Given the description of an element on the screen output the (x, y) to click on. 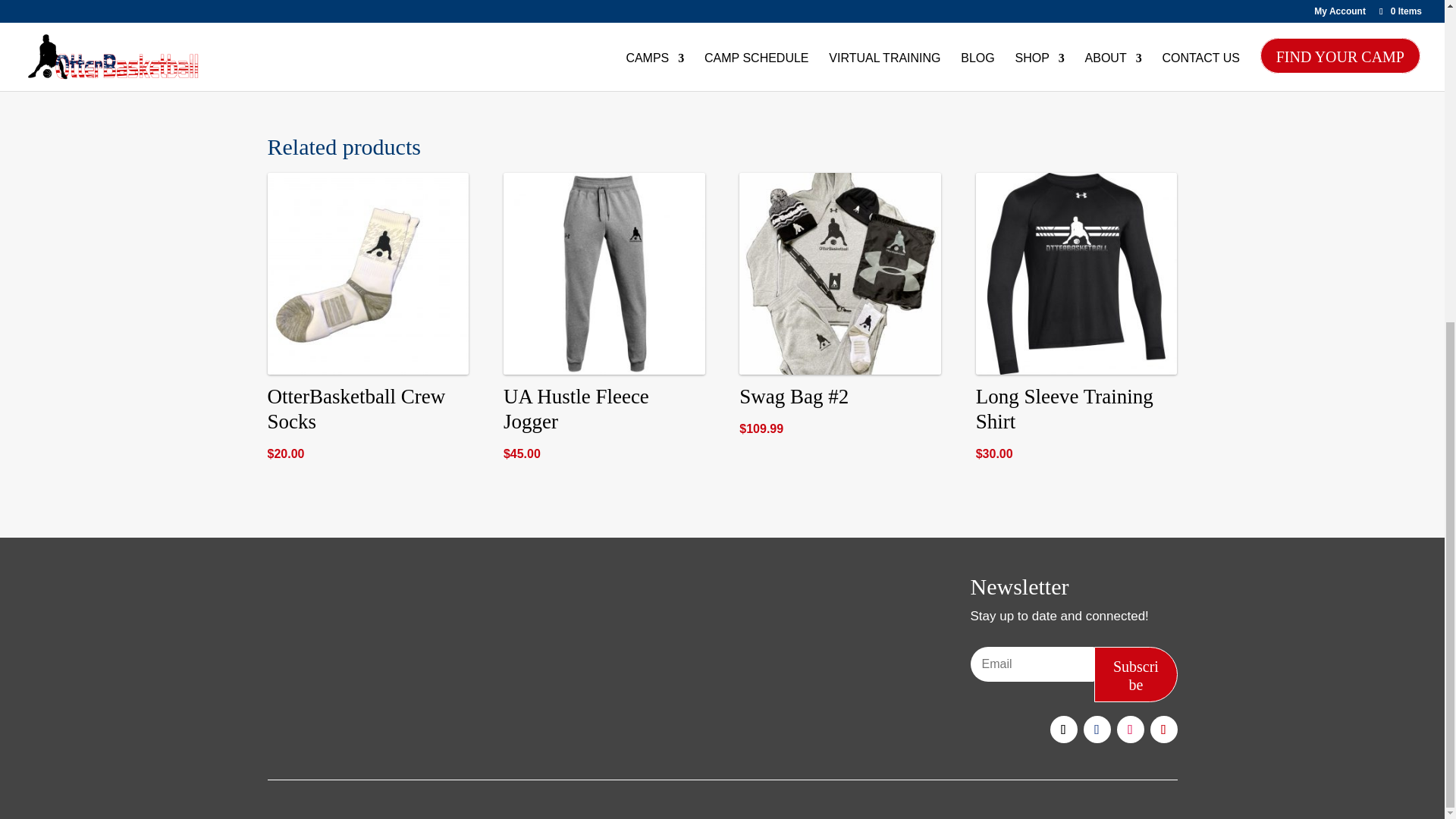
Follow on Youtube (1163, 728)
Follow on X (1063, 728)
Follow on Facebook (1096, 728)
Follow on Instagram (1129, 728)
